Given the description of an element on the screen output the (x, y) to click on. 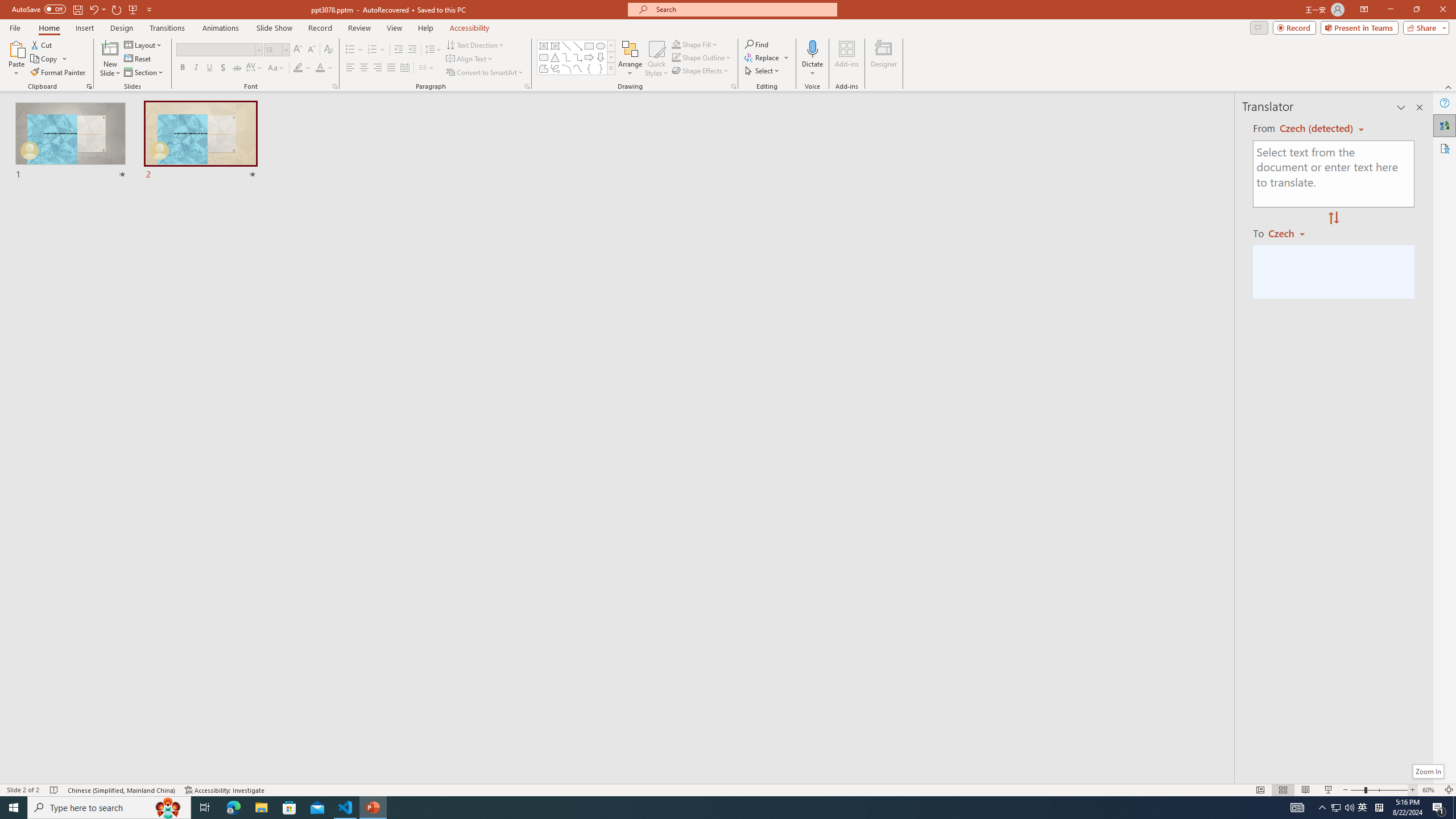
Czech (1291, 232)
